Given the description of an element on the screen output the (x, y) to click on. 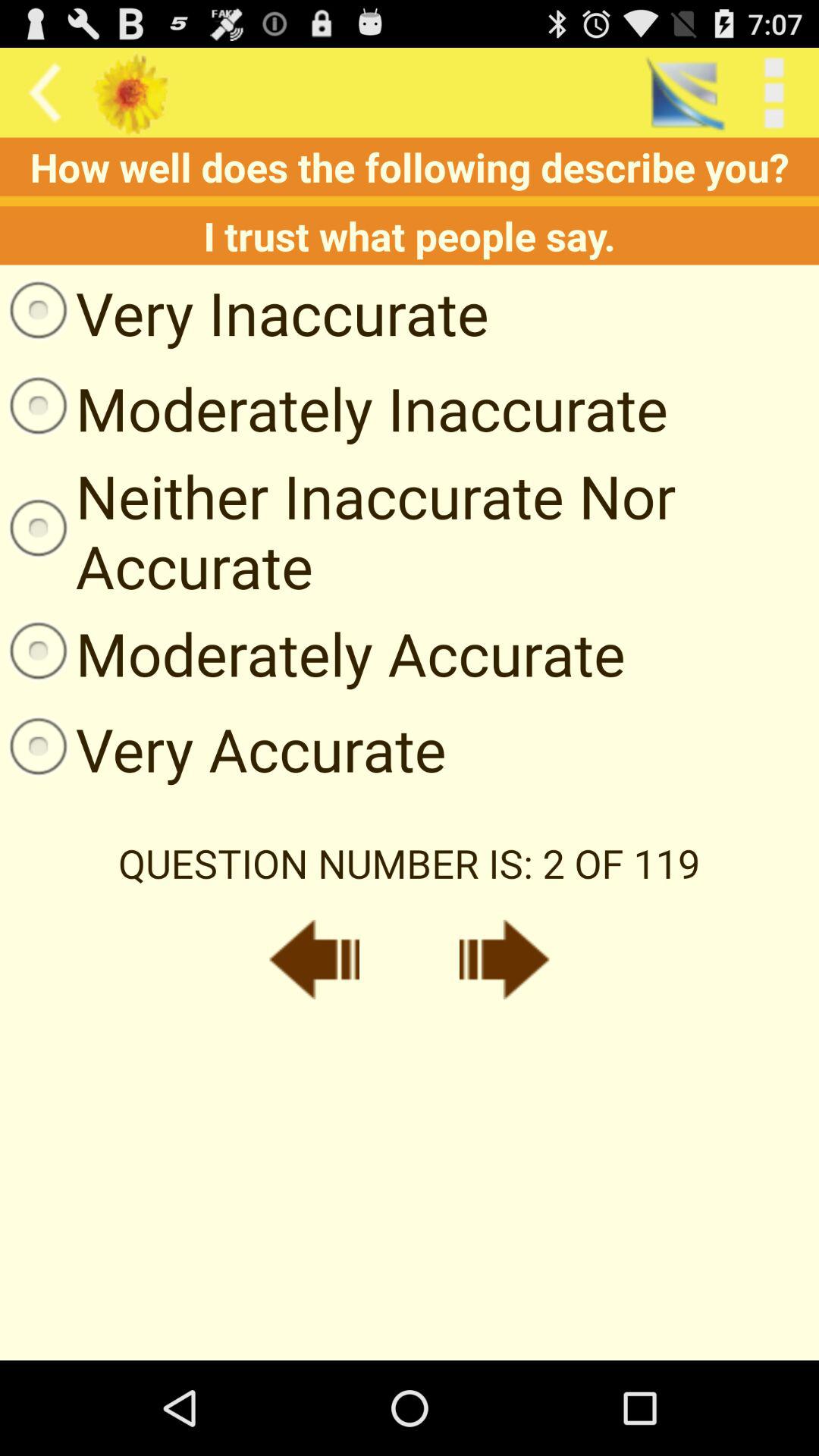
select the item above the question number is item (223, 748)
